Given the description of an element on the screen output the (x, y) to click on. 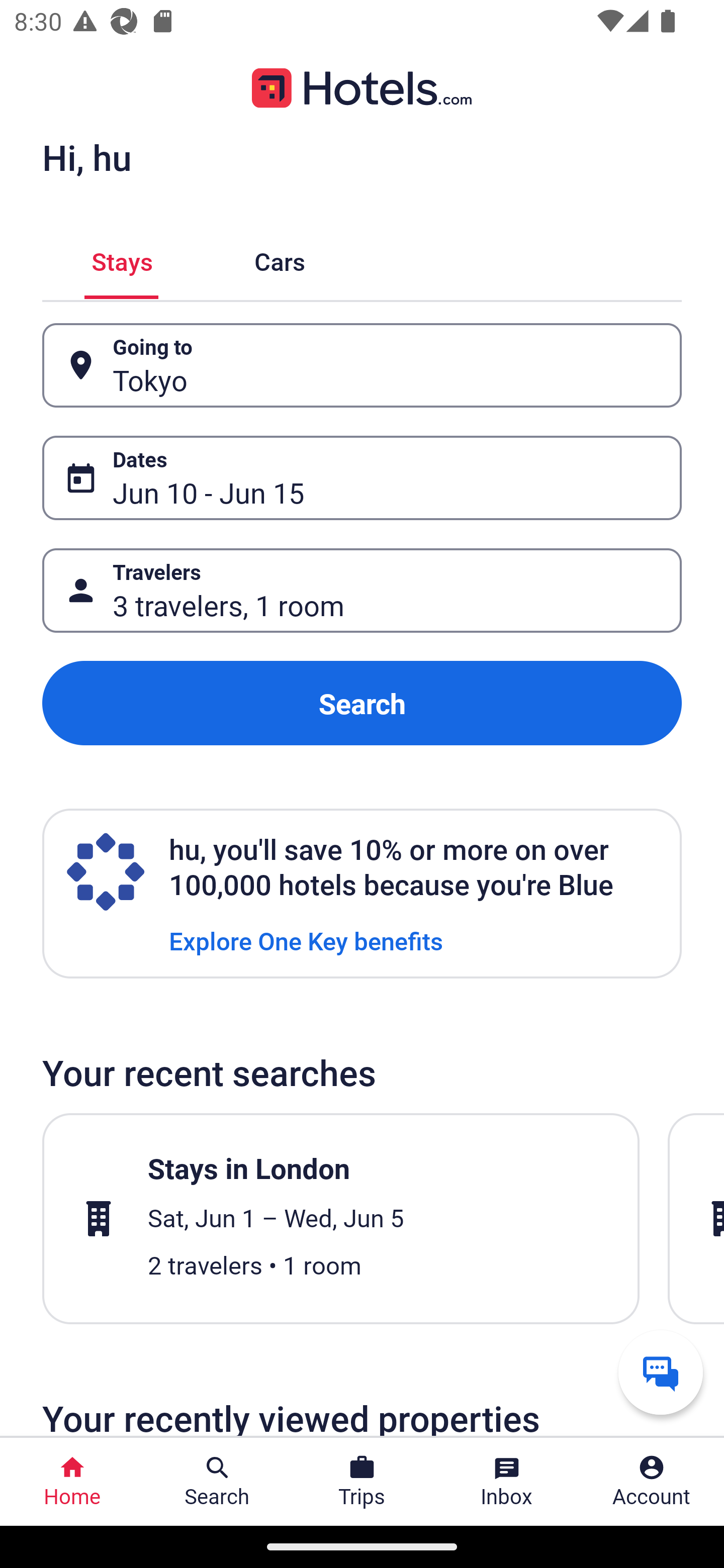
Hi, hu (86, 156)
Cars (279, 259)
Going to Button Tokyo (361, 365)
Dates Button Jun 10 - Jun 15 (361, 477)
Travelers Button 3 travelers, 1 room (361, 590)
Search (361, 702)
Get help from a virtual agent (660, 1371)
Search Search Button (216, 1481)
Trips Trips Button (361, 1481)
Inbox Inbox Button (506, 1481)
Account Profile. Button (651, 1481)
